Given the description of an element on the screen output the (x, y) to click on. 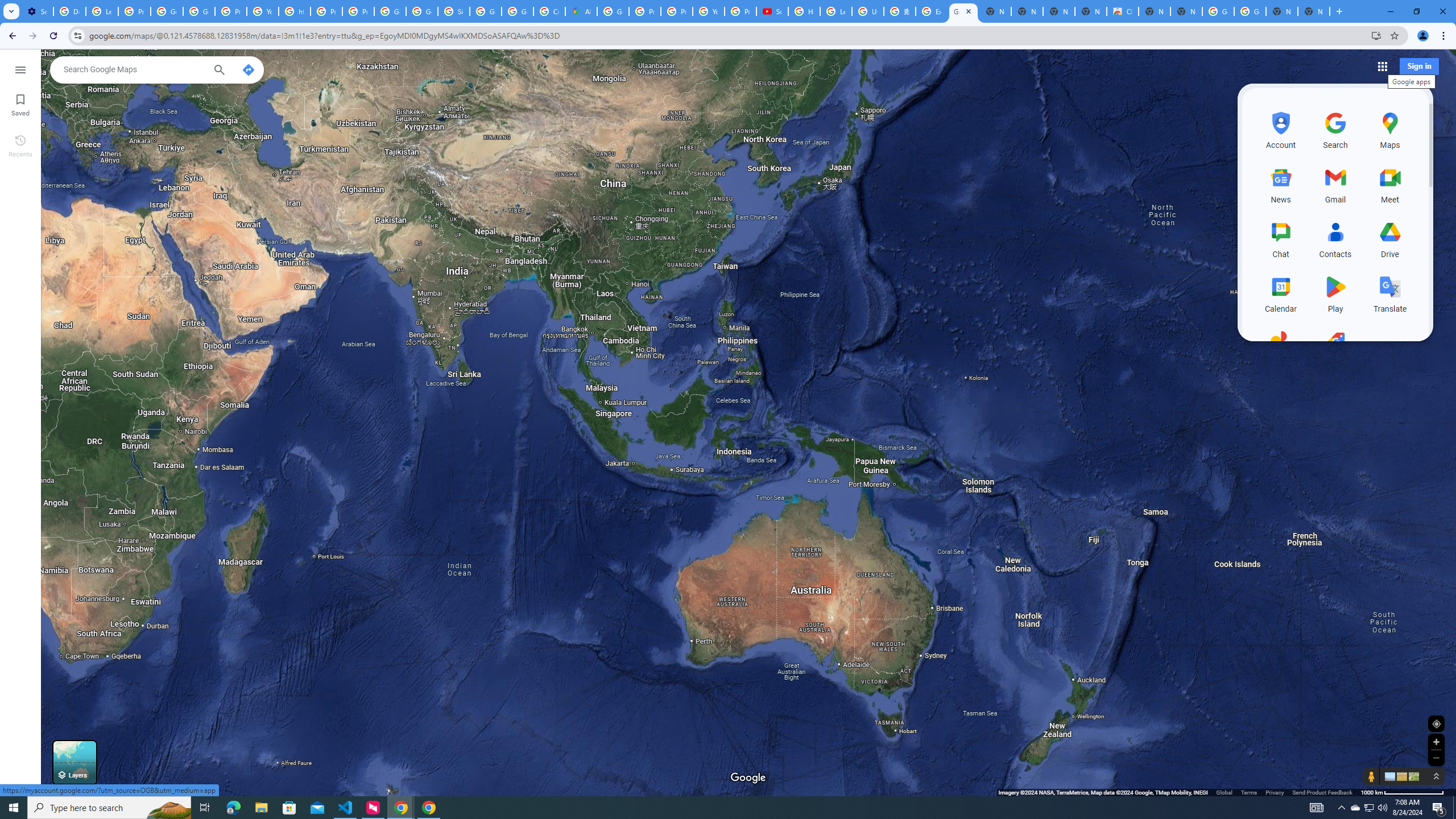
Delete photos & videos - Computer - Google Photos Help (69, 11)
Terms (1248, 792)
Zoom out (1436, 757)
Create your Google Account (549, 11)
Zoom in (1436, 741)
Show Street View coverage (1371, 776)
Google Account Help (198, 11)
Layers (74, 762)
Chrome Web Store (1123, 11)
